Given the description of an element on the screen output the (x, y) to click on. 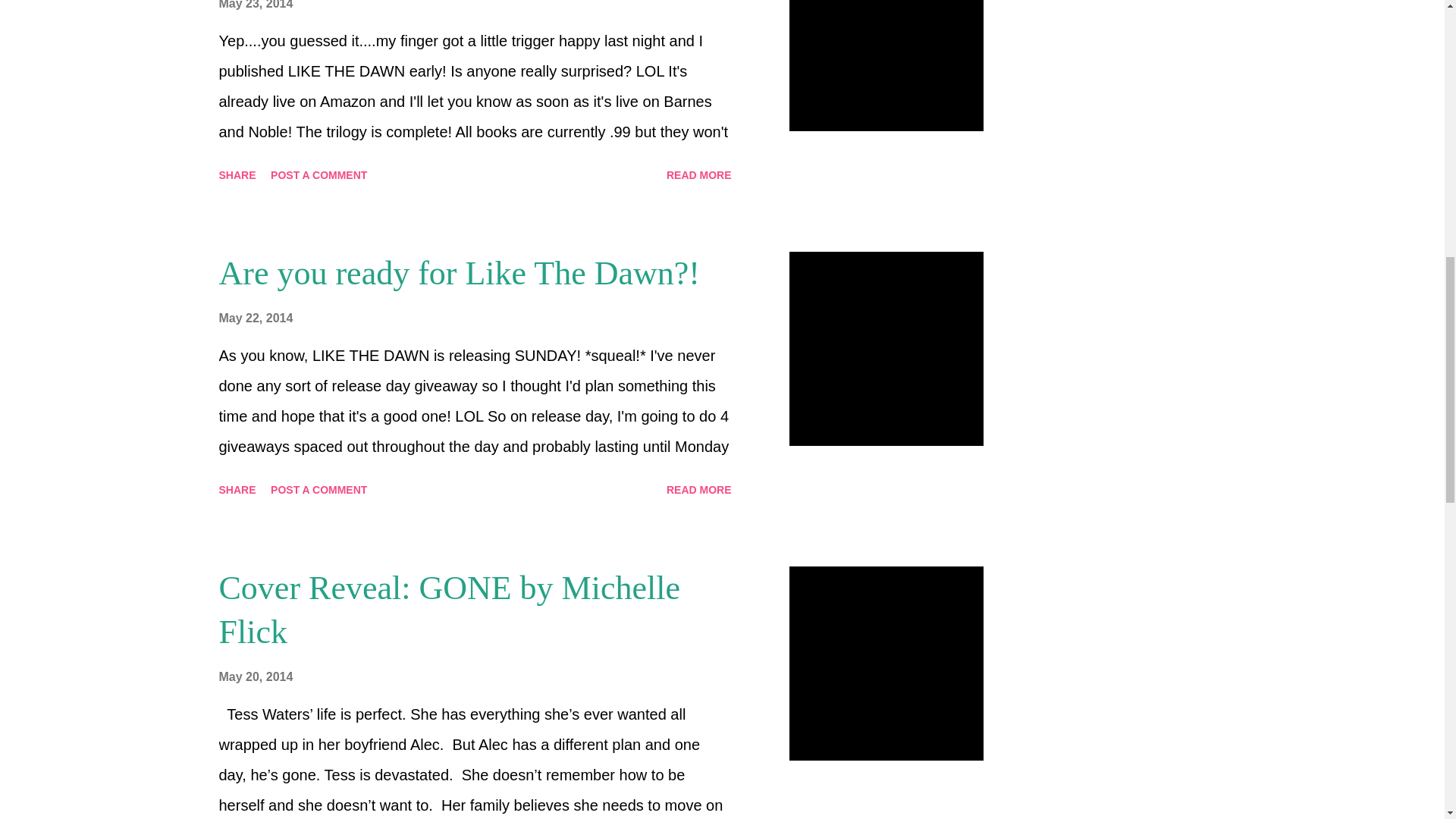
READ MORE (699, 174)
Are you ready for Like The Dawn?! (458, 272)
SHARE (237, 489)
May 22, 2014 (255, 318)
permanent link (255, 4)
POST A COMMENT (318, 489)
Cover Reveal: GONE by Michelle Flick (448, 610)
May 23, 2014 (255, 4)
SHARE (237, 174)
READ MORE (699, 489)
POST A COMMENT (318, 174)
